Given the description of an element on the screen output the (x, y) to click on. 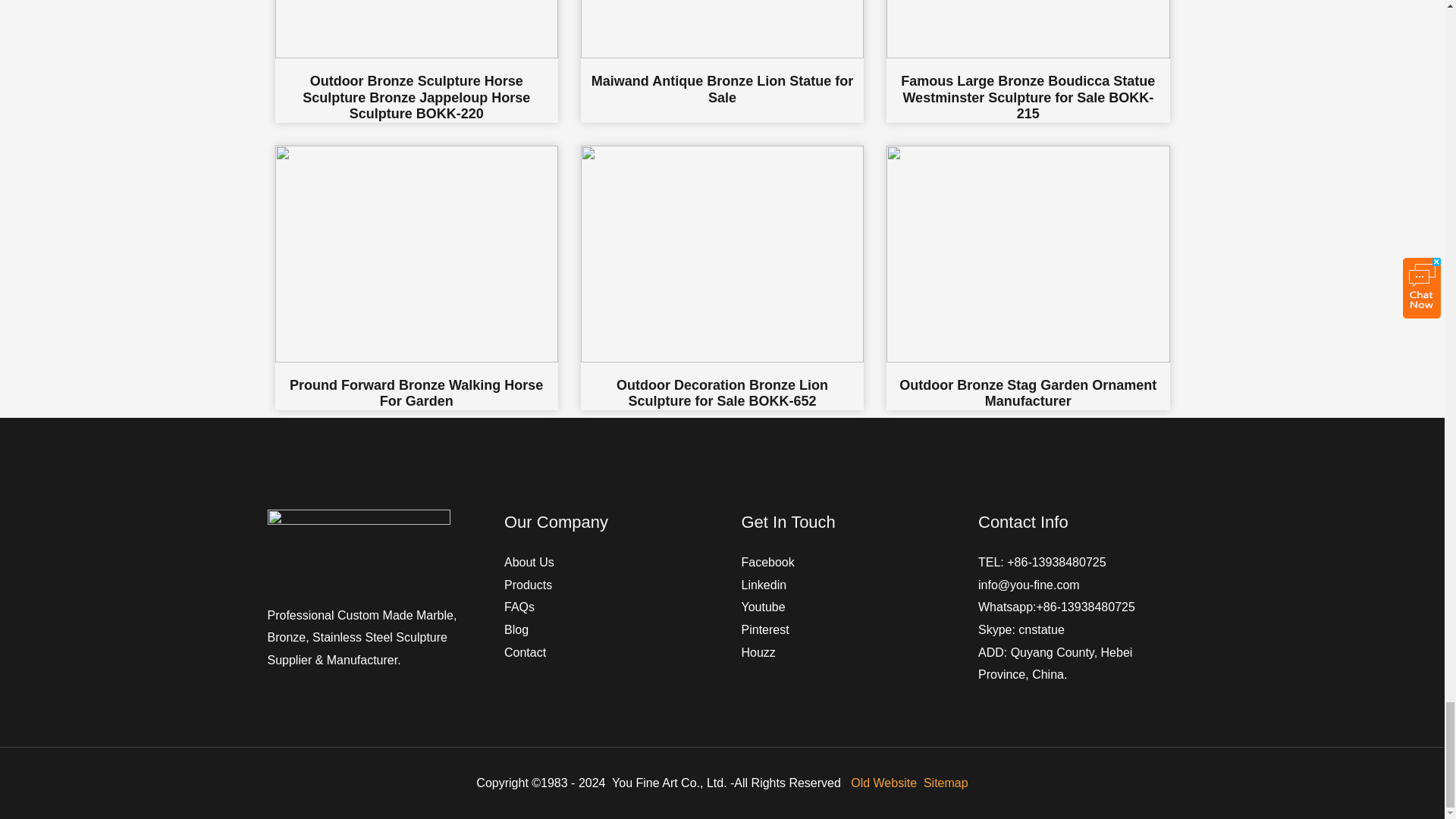
Outdoor Bronze Stag Garden Ornament Manufacturer (1027, 277)
Pround Forward Bronze Walking Horse For Garden (416, 277)
Maiwand Antique Bronze Lion Statue for Sale (721, 61)
Outdoor Decoration Bronze Lion Sculpture for Sale BOKK-652 (721, 277)
